Given the description of an element on the screen output the (x, y) to click on. 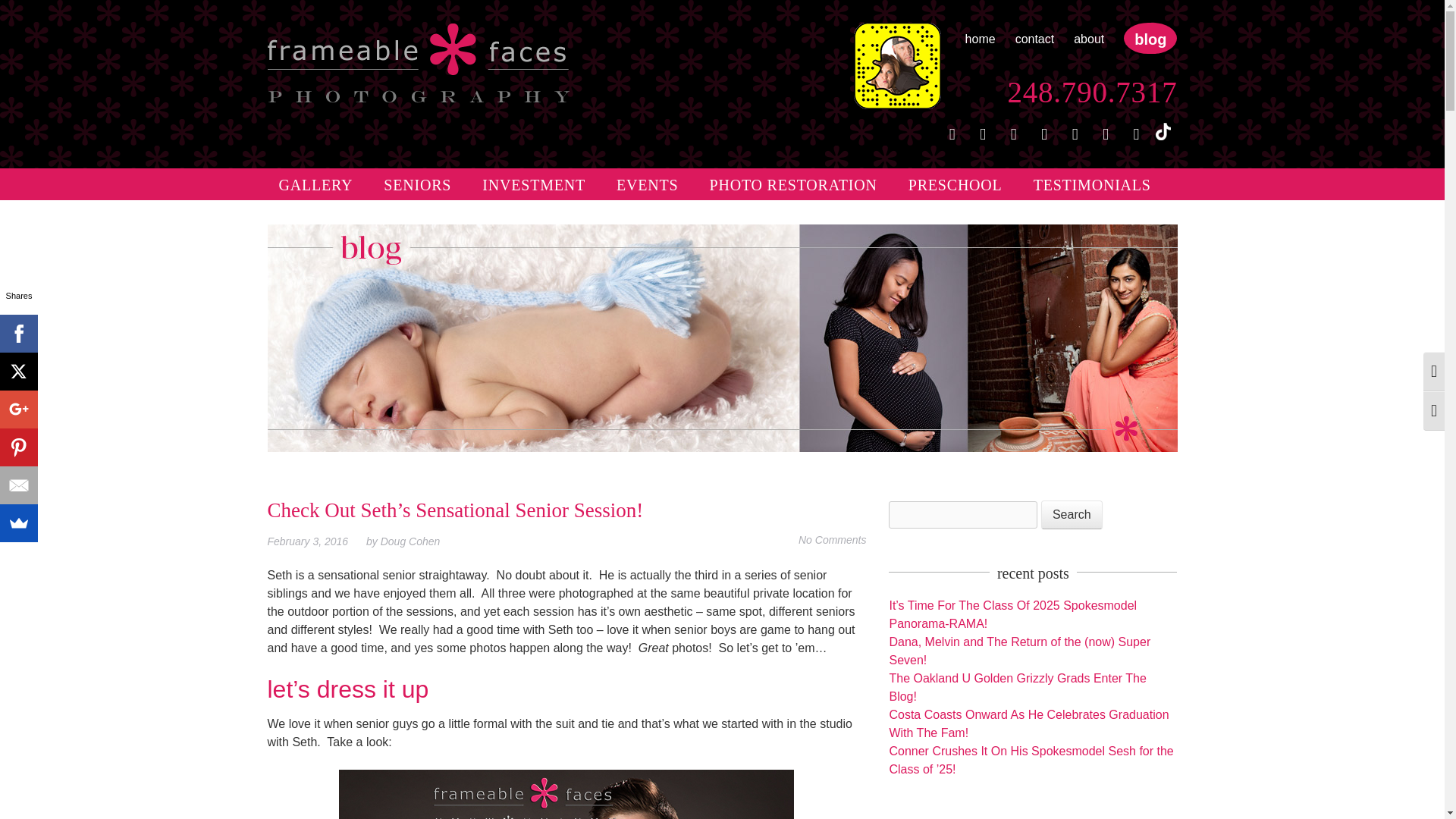
X (18, 371)
SENIORS (417, 183)
PRESCHOOL (954, 183)
home (980, 38)
INVESTMENT (533, 183)
Search (1071, 514)
about (1088, 38)
contact (1034, 38)
Facebook (18, 333)
GALLERY (315, 183)
February 3, 2016 (314, 540)
No Comments (831, 539)
SumoMe (18, 523)
EVENTS (646, 183)
tiktok (1163, 130)
